Given the description of an element on the screen output the (x, y) to click on. 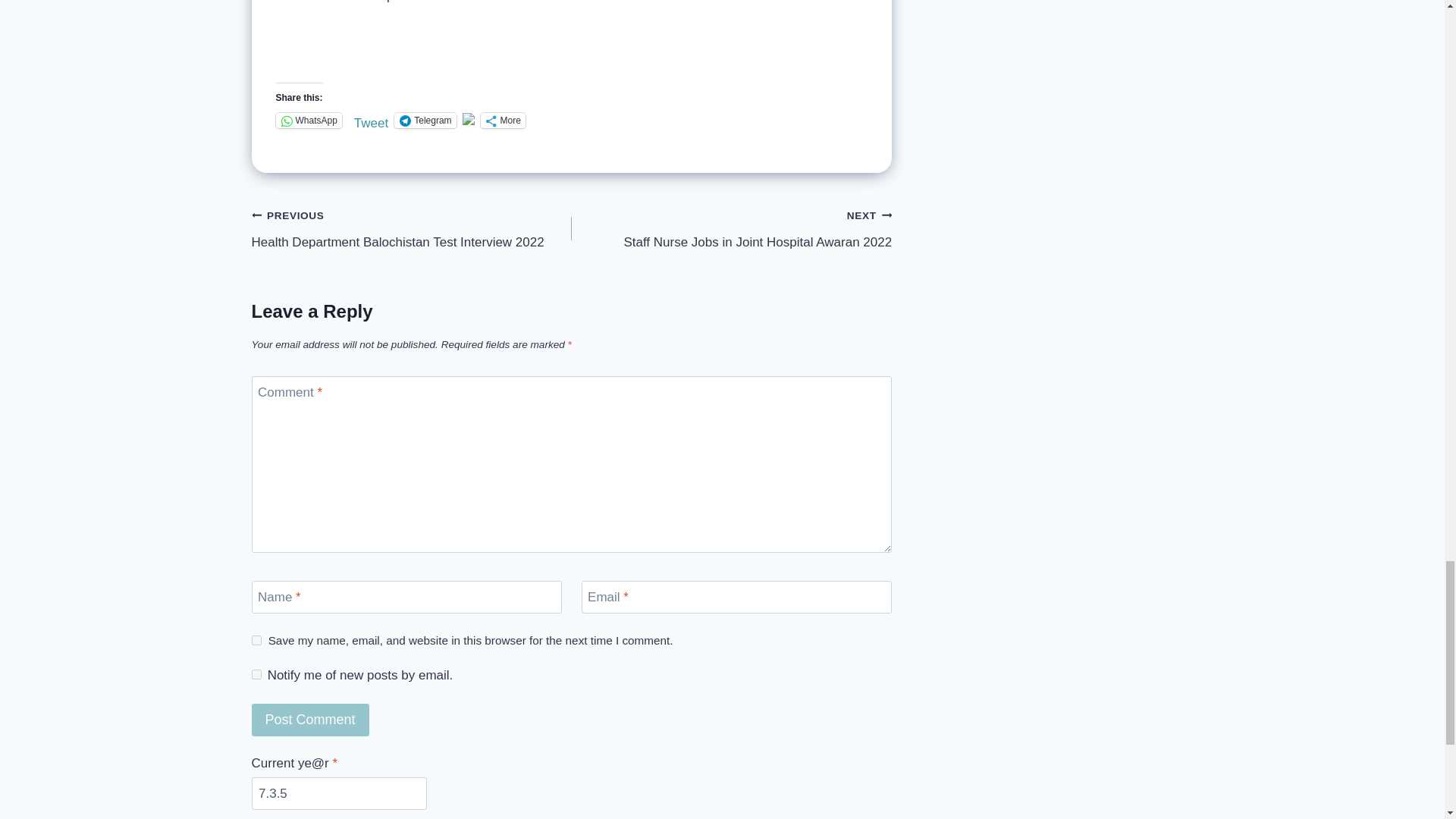
yes (256, 640)
subscribe (256, 674)
7.3.5 (338, 793)
Click to share on Telegram (424, 120)
Post Comment (310, 719)
Click to share on WhatsApp (309, 120)
